Given the description of an element on the screen output the (x, y) to click on. 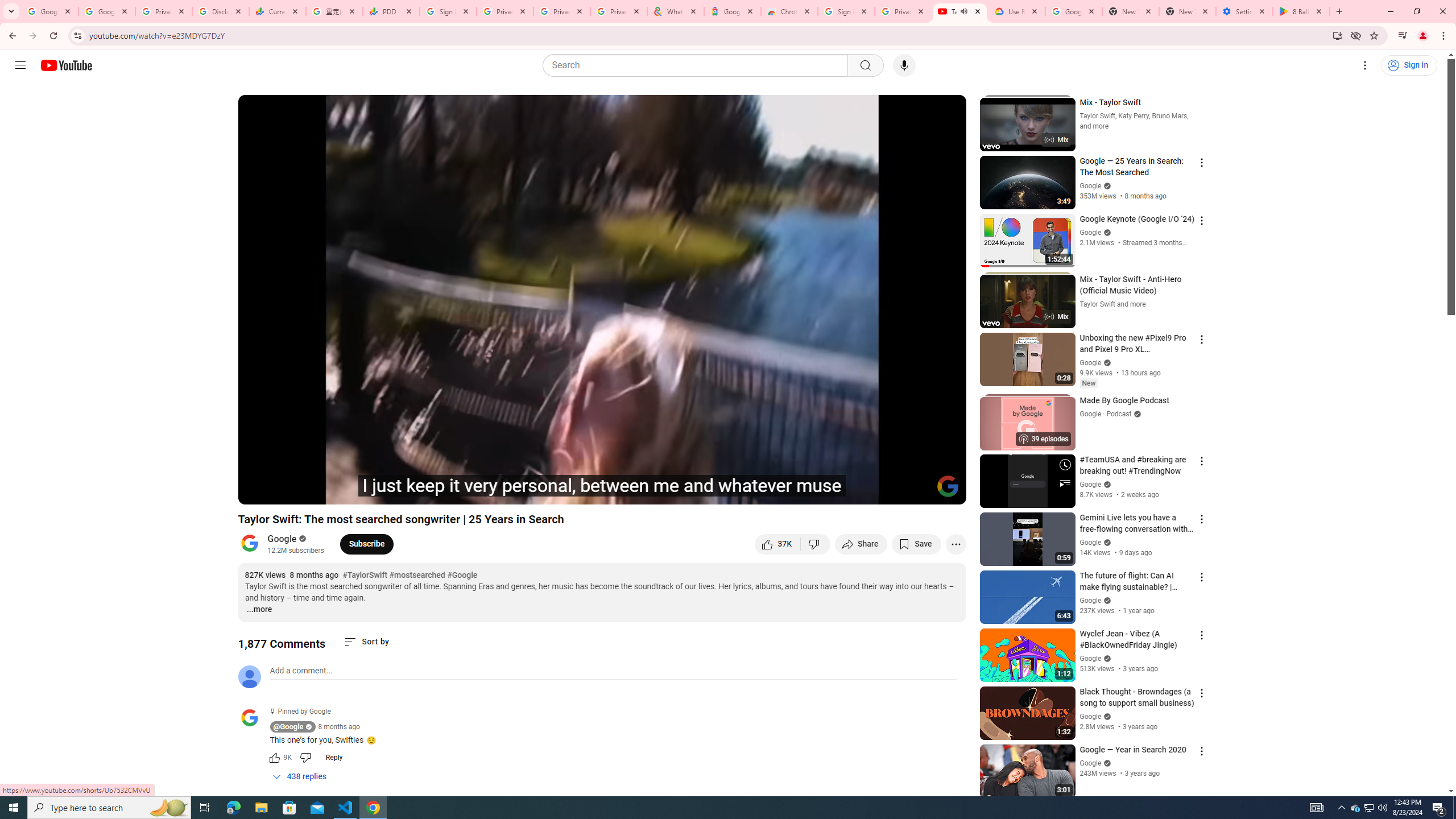
438 replies (298, 776)
PDD Holdings Inc - ADR (PDD) Price & News - Google Finance (391, 11)
@Google (253, 717)
Autoplay is on (808, 490)
like this video along with 37,258 other people (777, 543)
Privacy Checkup (561, 11)
Miniplayer (i) (890, 490)
8 months ago (338, 726)
#mostsearched (416, 575)
